Given the description of an element on the screen output the (x, y) to click on. 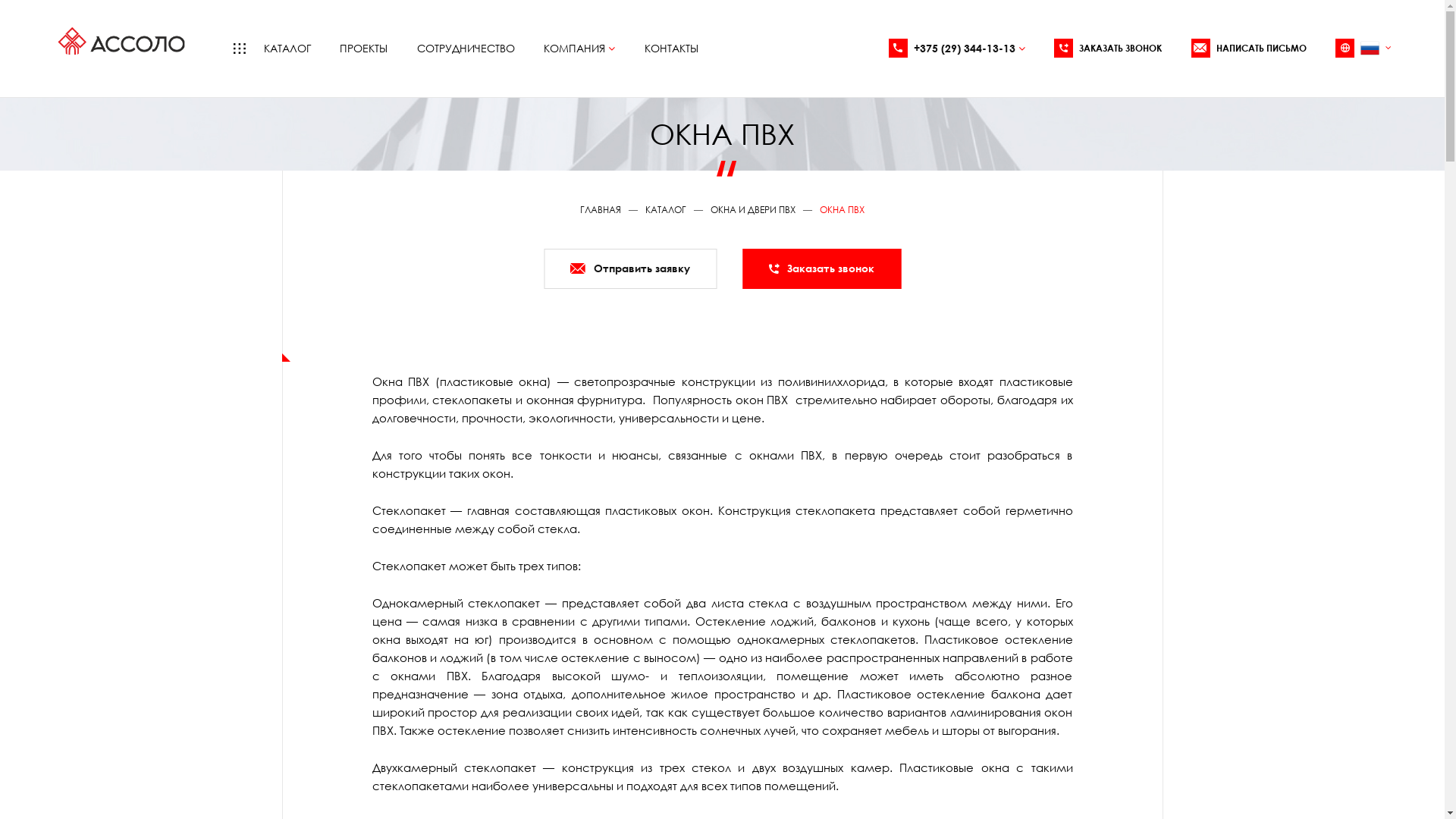
+375 (29) 344-13-13 Element type: text (956, 47)
